Given the description of an element on the screen output the (x, y) to click on. 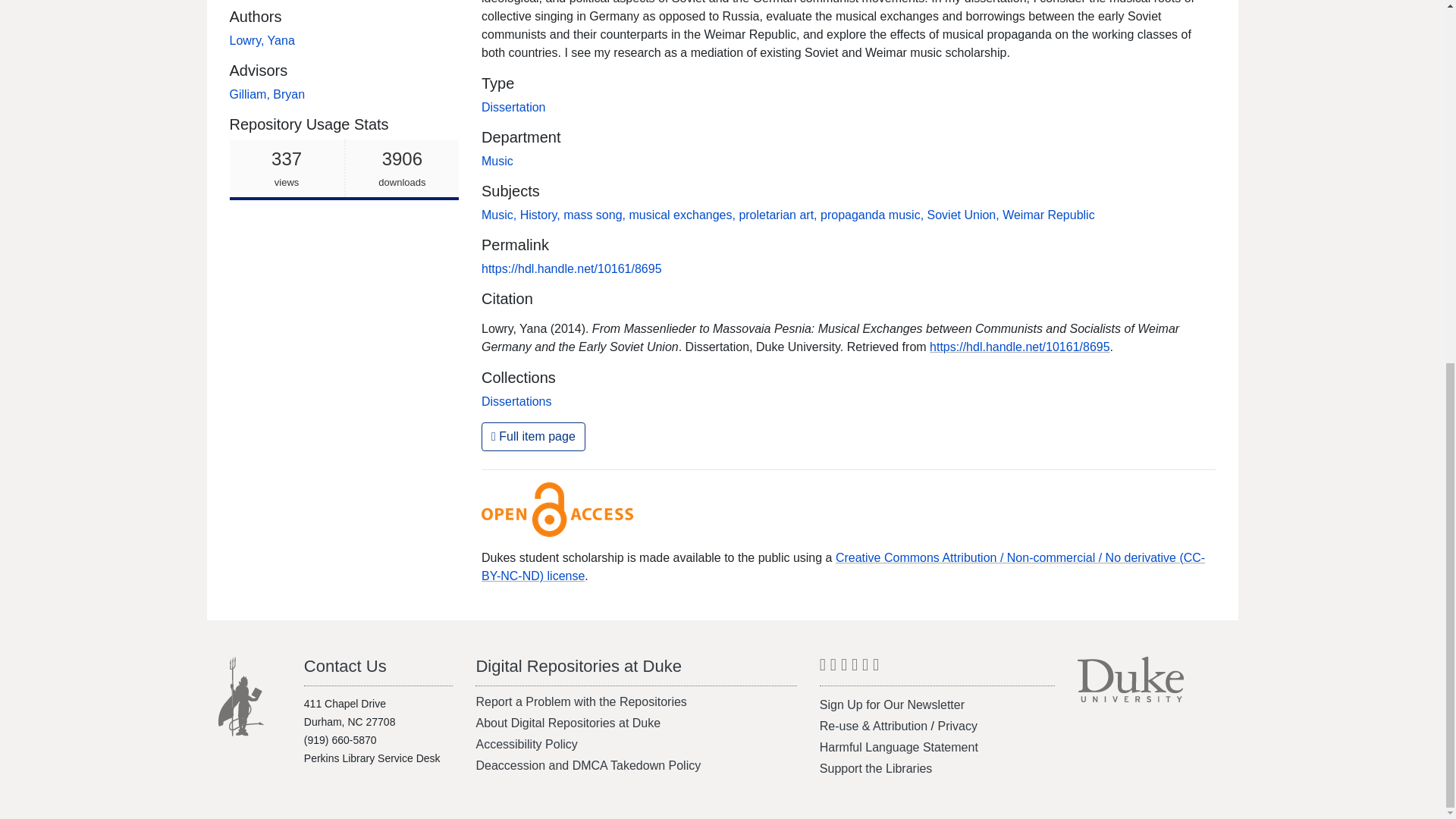
Music, (500, 214)
Weimar Republic (1048, 214)
mass song, (595, 214)
Lowry, Yana (343, 169)
Dissertation (261, 40)
Dissertations (512, 106)
musical exchanges, (516, 400)
History, (683, 214)
Music (541, 214)
